Given the description of an element on the screen output the (x, y) to click on. 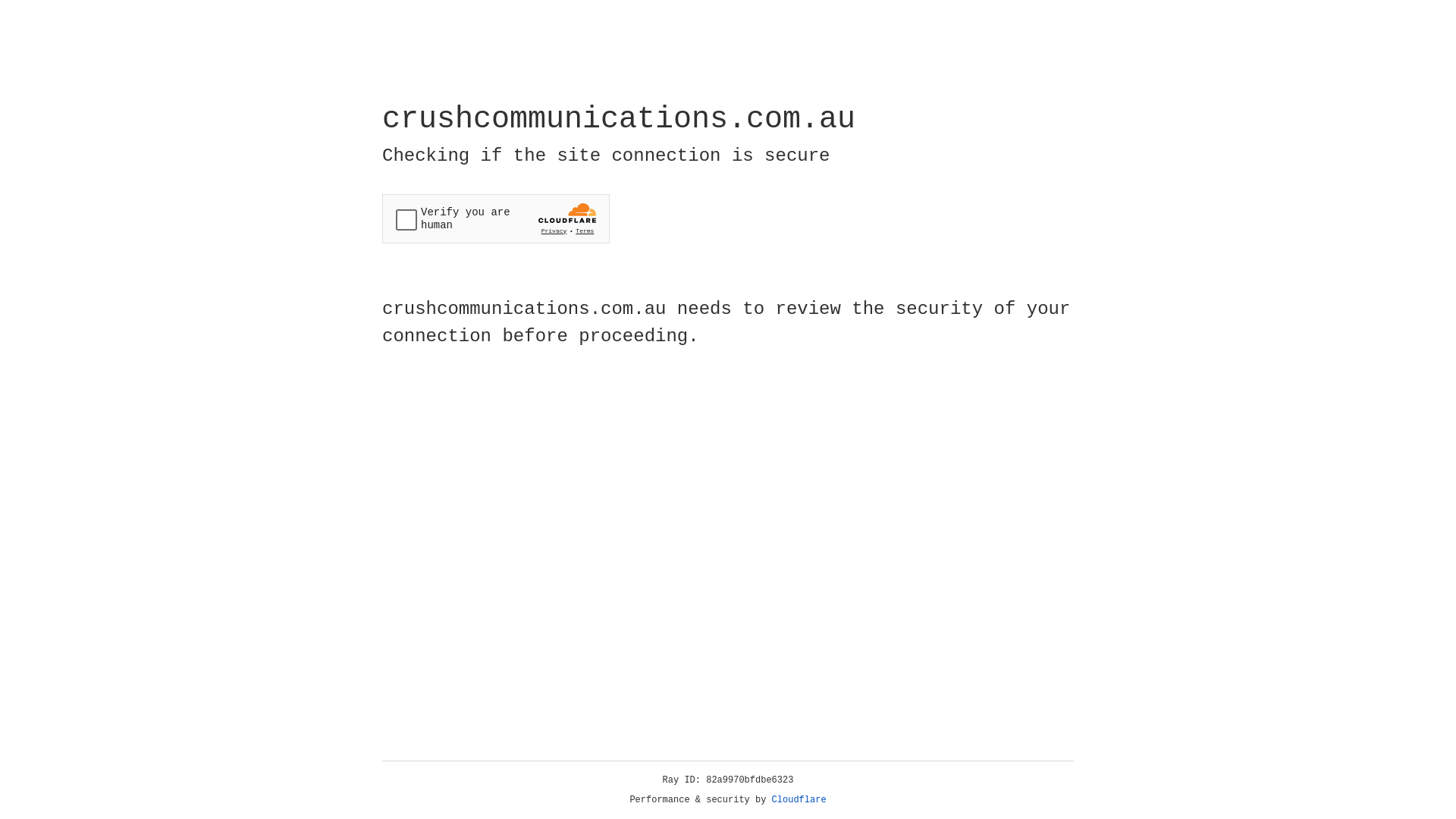
Widget containing a Cloudflare security challenge Element type: hover (495, 218)
Cloudflare Element type: text (798, 799)
